Given the description of an element on the screen output the (x, y) to click on. 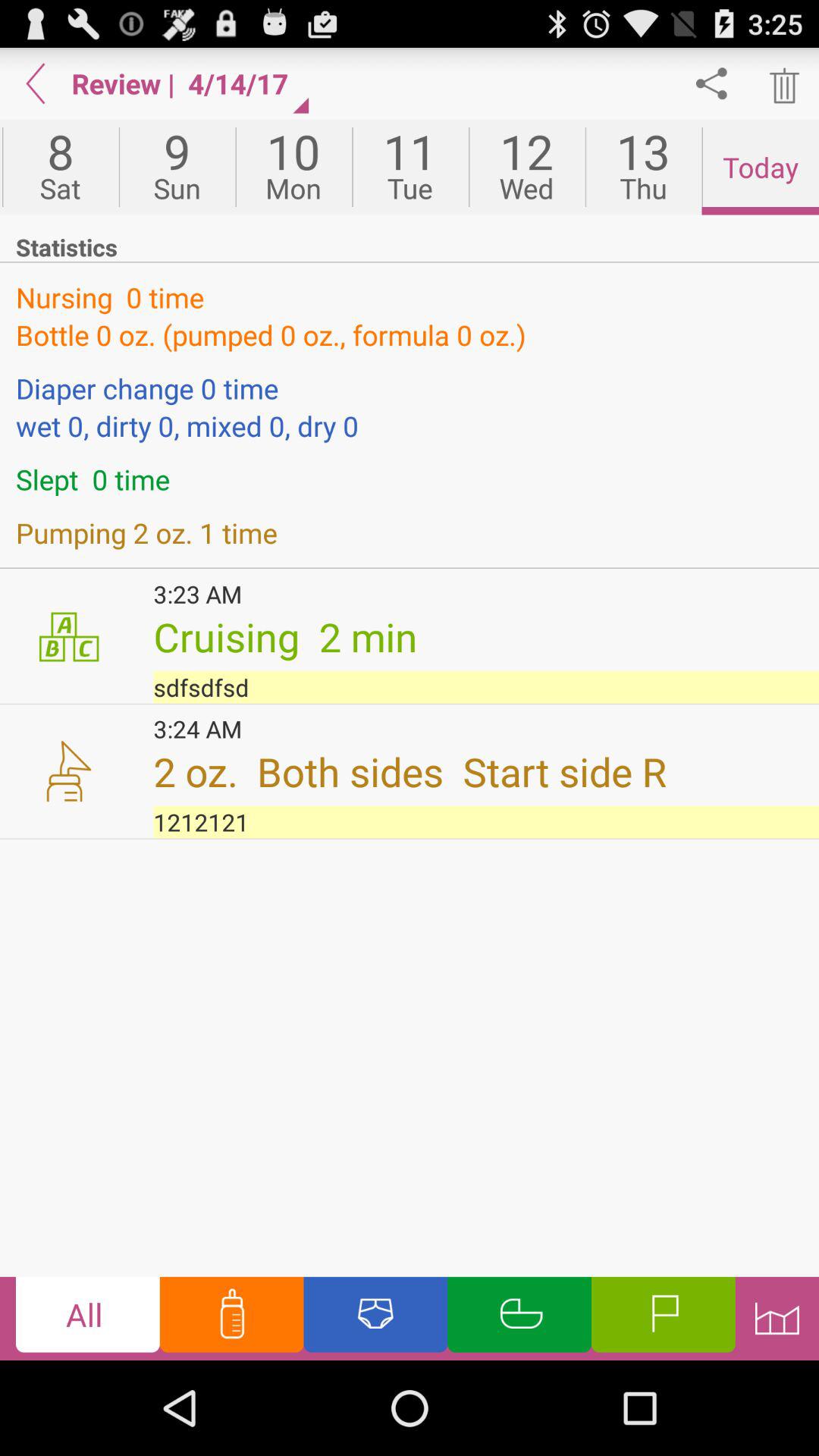
click share option (711, 83)
